Given the description of an element on the screen output the (x, y) to click on. 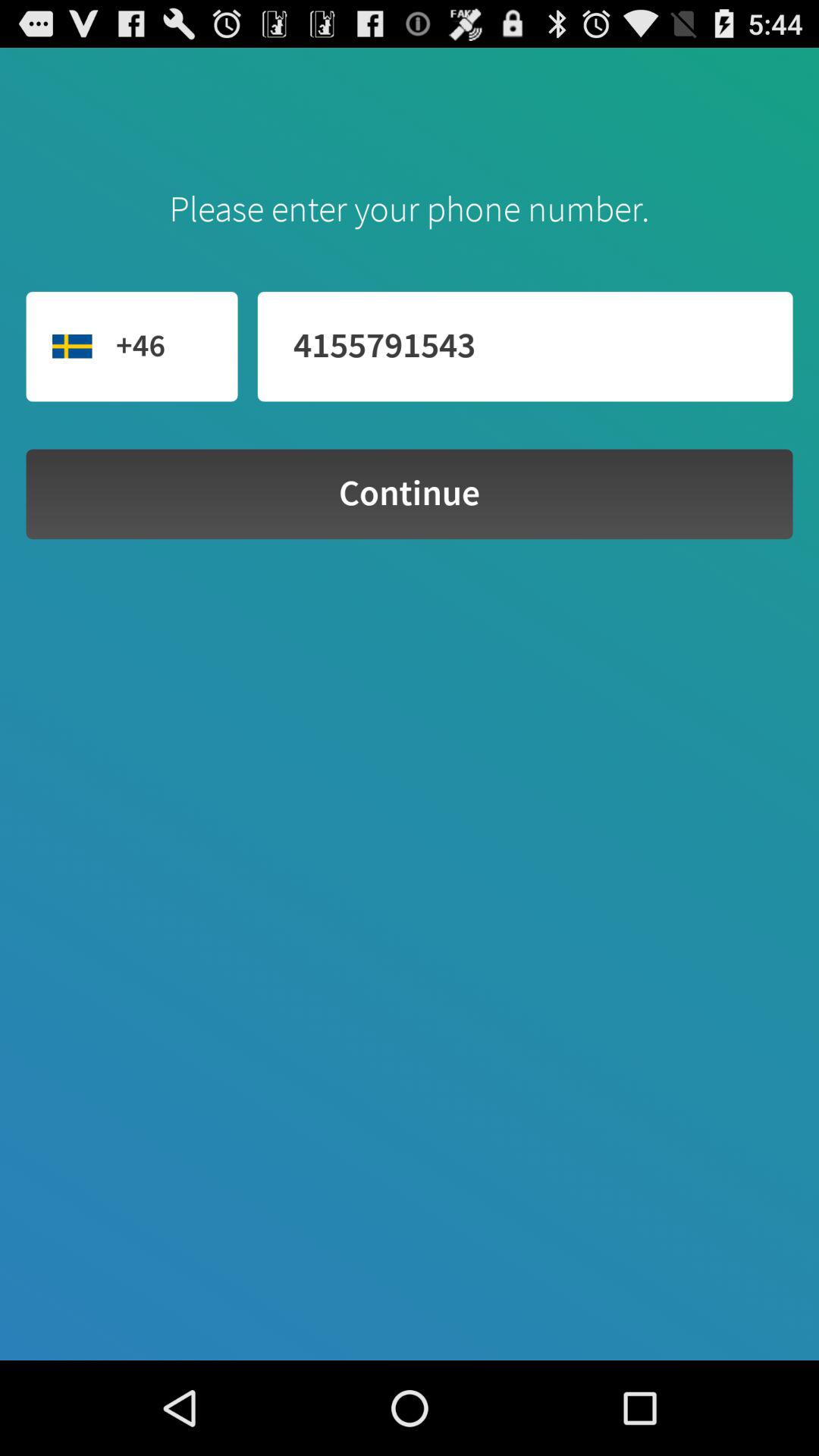
jump to continue (409, 494)
